Given the description of an element on the screen output the (x, y) to click on. 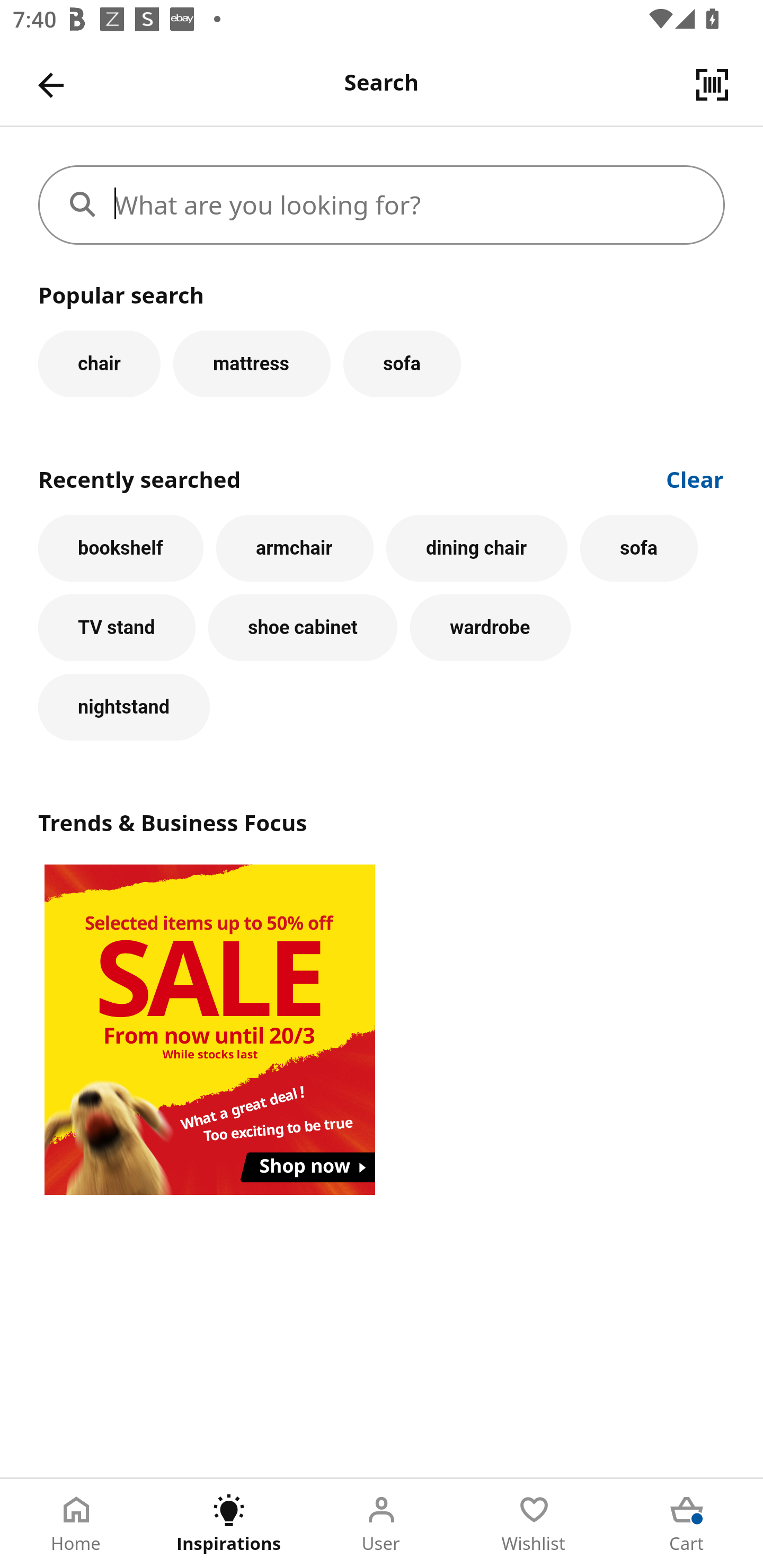
chair (99, 363)
mattress (251, 363)
sofa (401, 363)
Clear (695, 477)
bookshelf (120, 547)
armchair (294, 547)
dining chair (476, 547)
sofa (638, 547)
TV stand (116, 627)
shoe cabinet (302, 627)
wardrobe (490, 627)
nightstand (123, 707)
Home
Tab 1 of 5 (76, 1522)
Inspirations
Tab 2 of 5 (228, 1522)
User
Tab 3 of 5 (381, 1522)
Wishlist
Tab 4 of 5 (533, 1522)
Cart
Tab 5 of 5 (686, 1522)
